Given the description of an element on the screen output the (x, y) to click on. 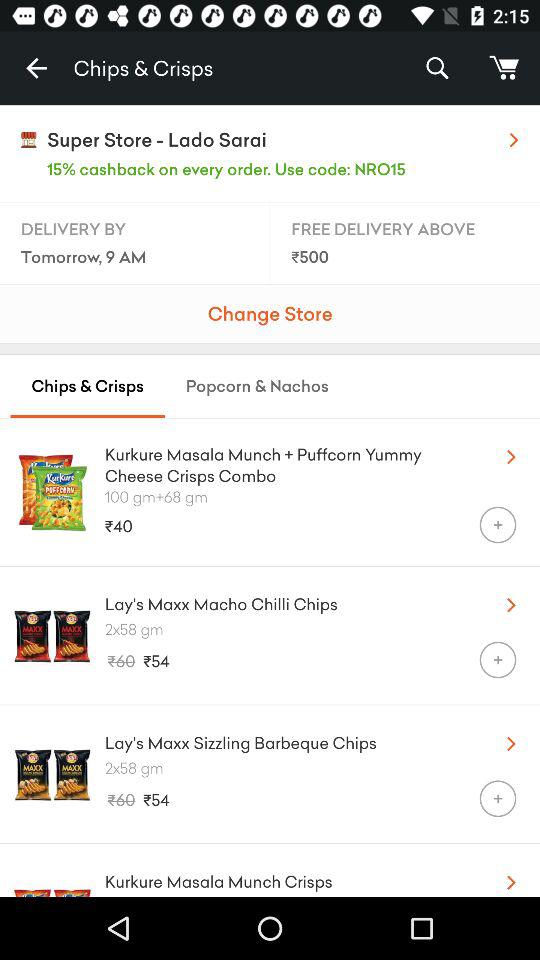
choose the icon to the left of the chips & crisps (36, 68)
